Given the description of an element on the screen output the (x, y) to click on. 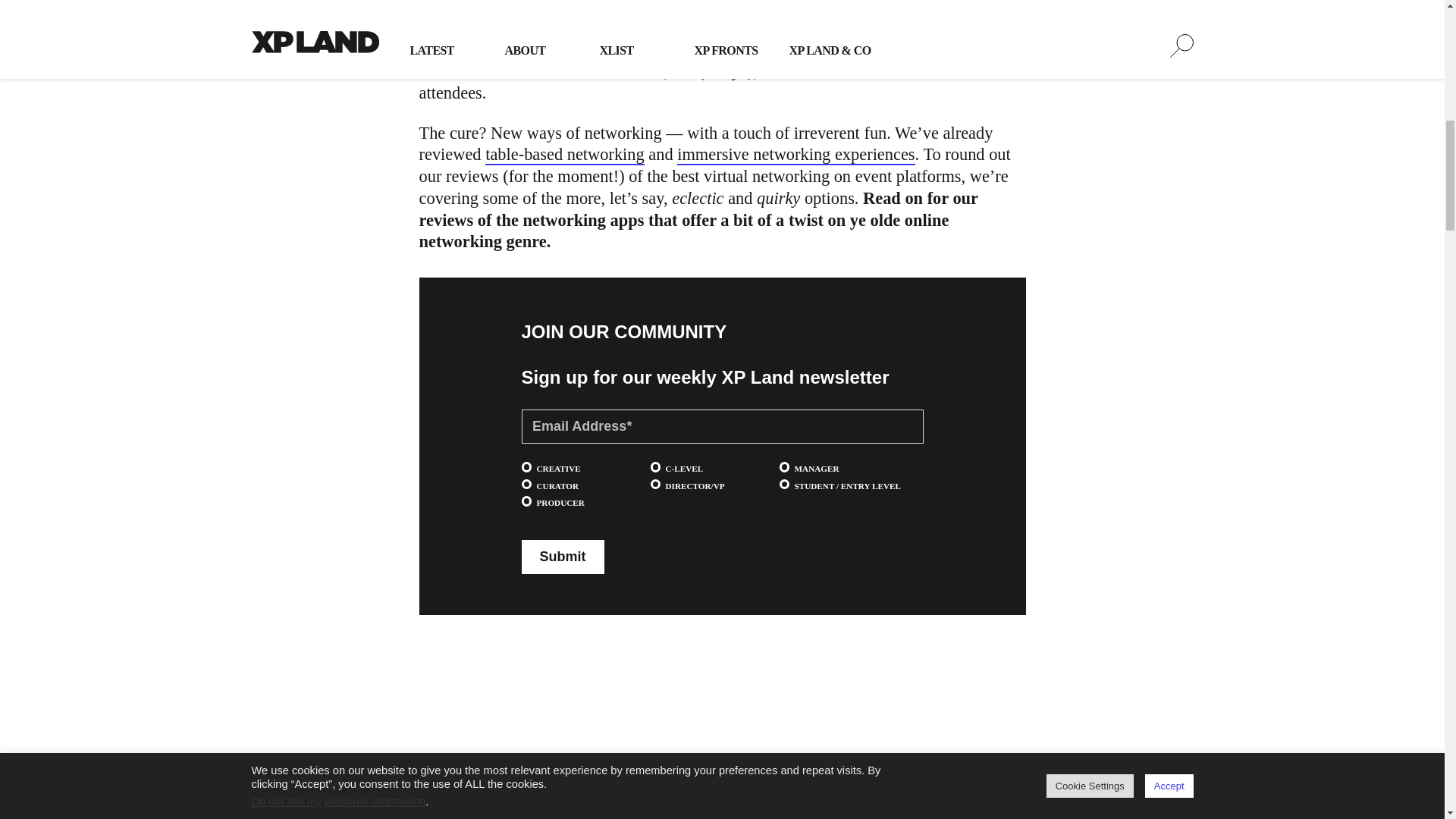
AI tools connecting us with interesting people (798, 27)
Submit (562, 556)
immersive networking experiences (795, 154)
Submit (562, 556)
table-based networking (564, 154)
